Given the description of an element on the screen output the (x, y) to click on. 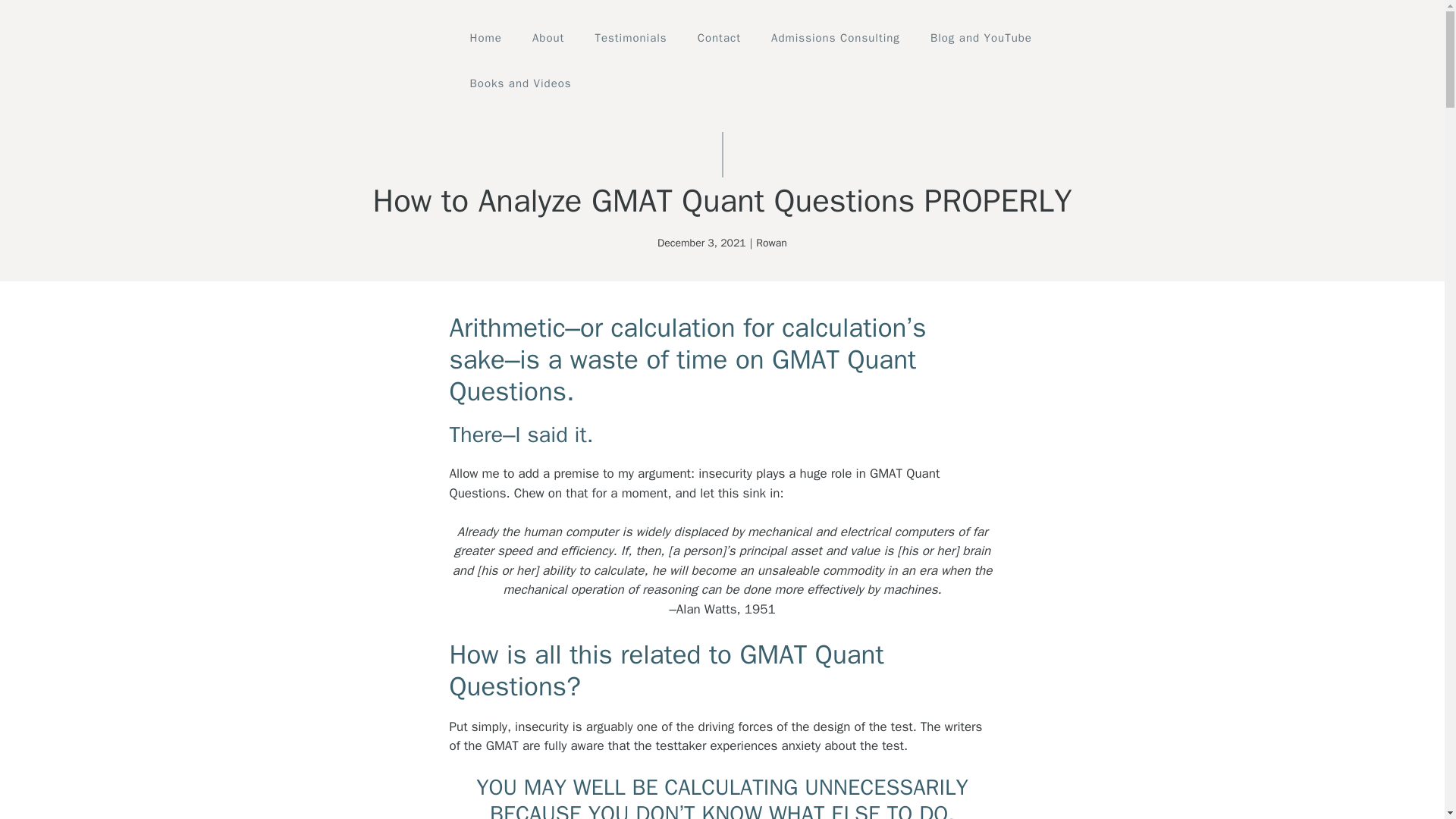
Books and Videos (520, 83)
Home (485, 37)
About (547, 37)
Testimonials (630, 37)
Blog and YouTube (980, 37)
Private GMAT Tutor London (375, 59)
Rowan (771, 242)
Contact (718, 37)
Admissions Consulting (835, 37)
